Given the description of an element on the screen output the (x, y) to click on. 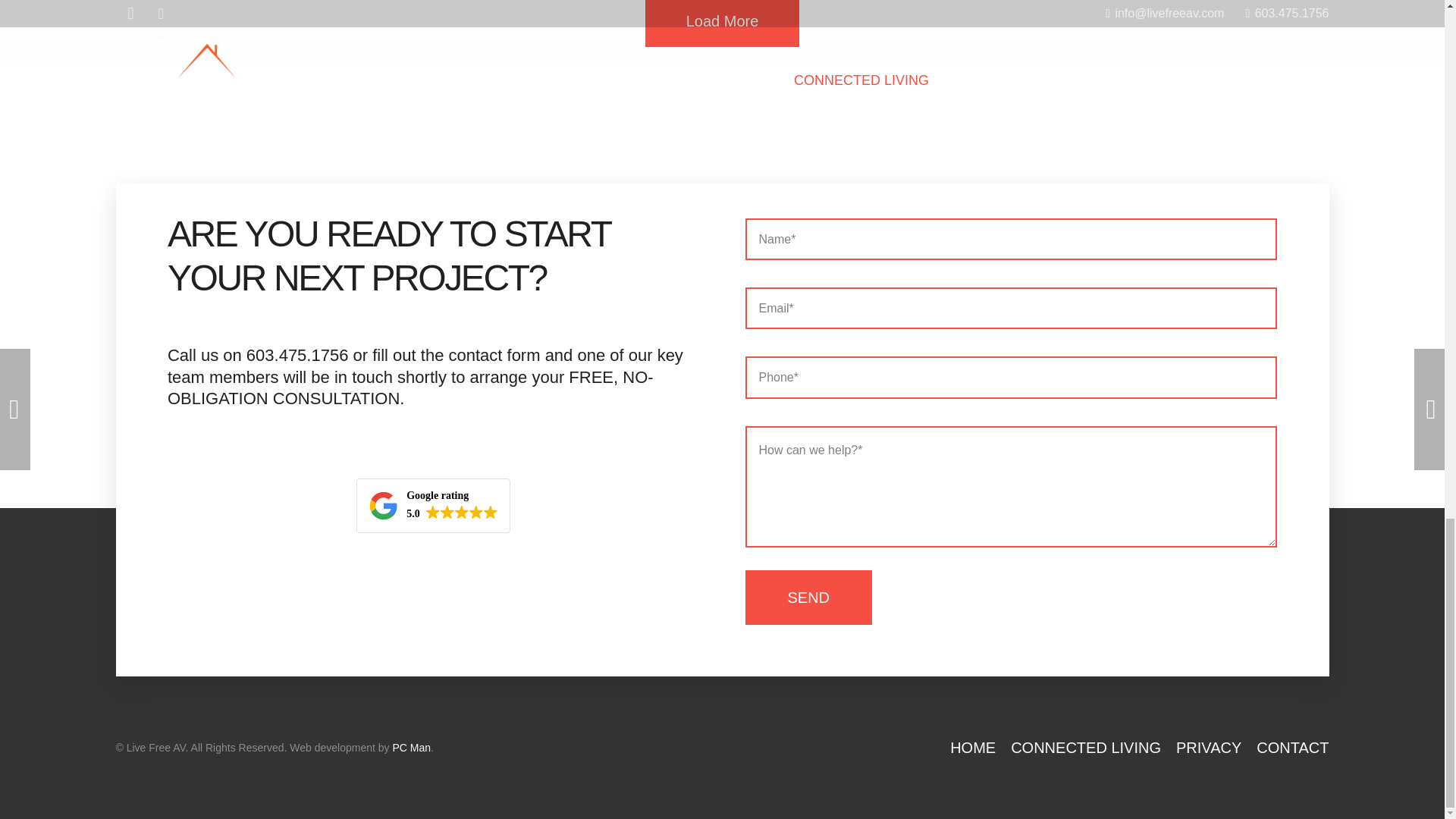
SEND (808, 597)
CONNECTED LIVING (1085, 747)
PRIVACY (1208, 747)
Load More (722, 23)
SEND (433, 505)
PC Man (808, 597)
HOME (410, 747)
